Given the description of an element on the screen output the (x, y) to click on. 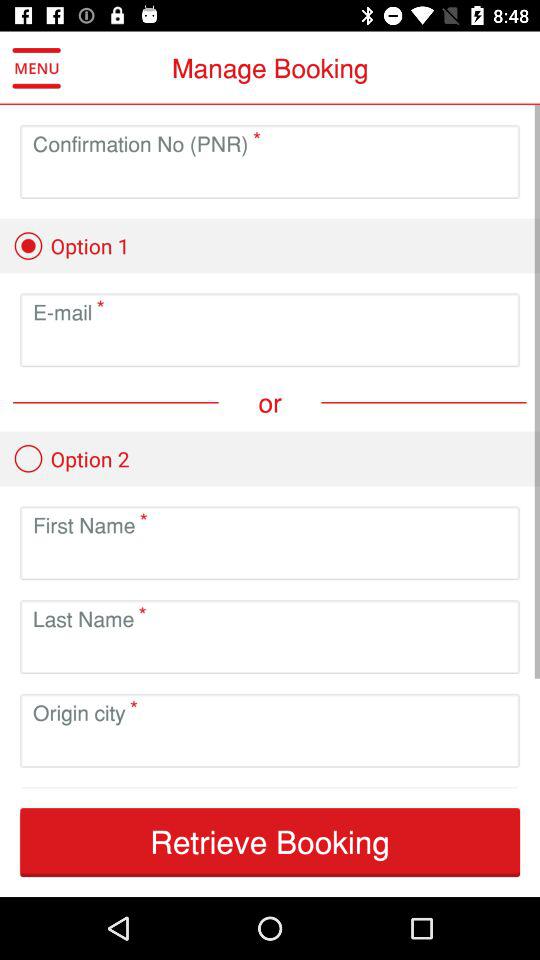
open icon to the left of manage booking icon (36, 68)
